Given the description of an element on the screen output the (x, y) to click on. 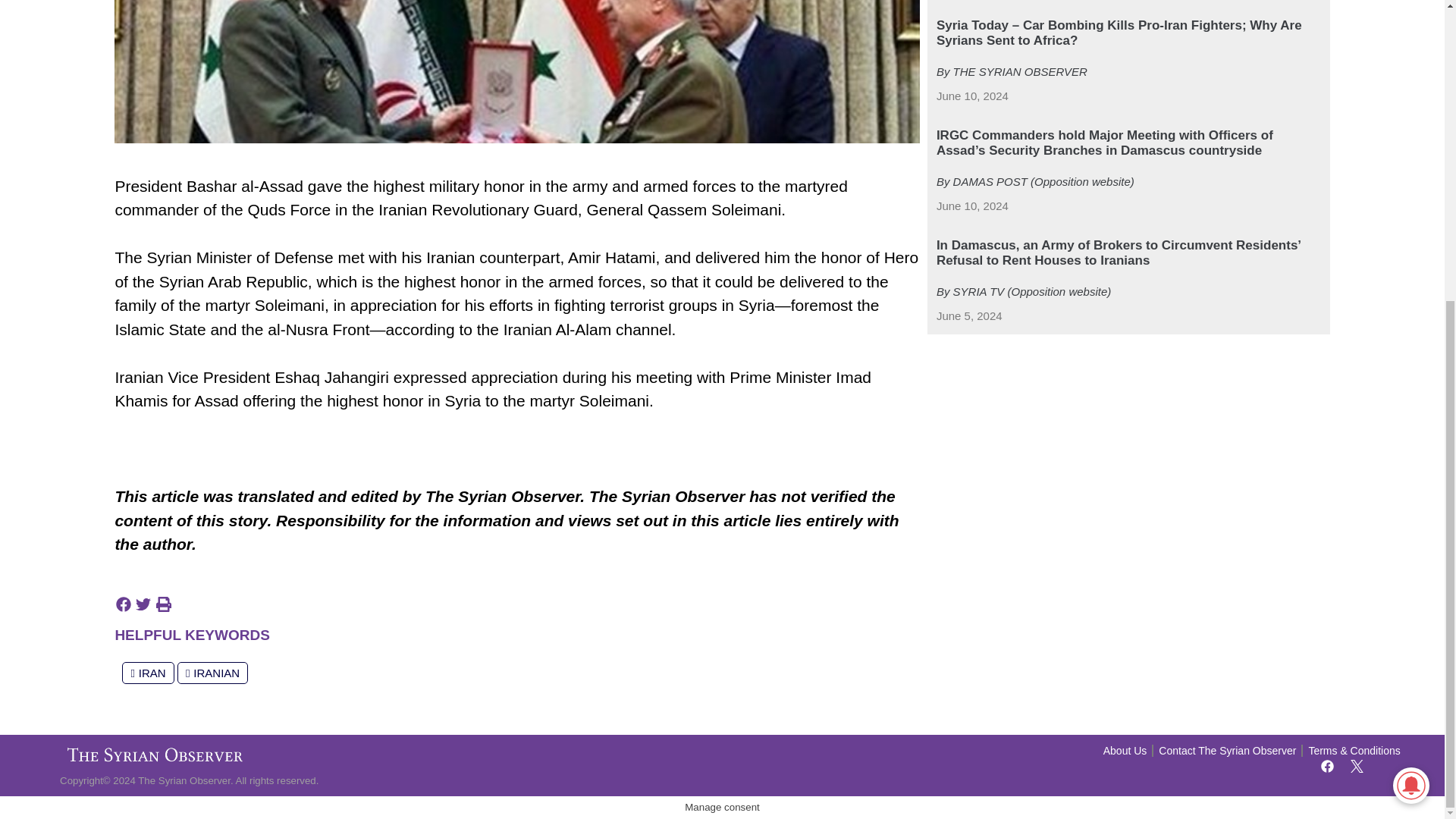
IRANIAN (212, 672)
IRAN (147, 672)
June 10, 2024 (972, 96)
June 5, 2024 (969, 316)
About Us (1125, 750)
Contact The Syrian Observer (1227, 750)
June 10, 2024 (972, 206)
